Given the description of an element on the screen output the (x, y) to click on. 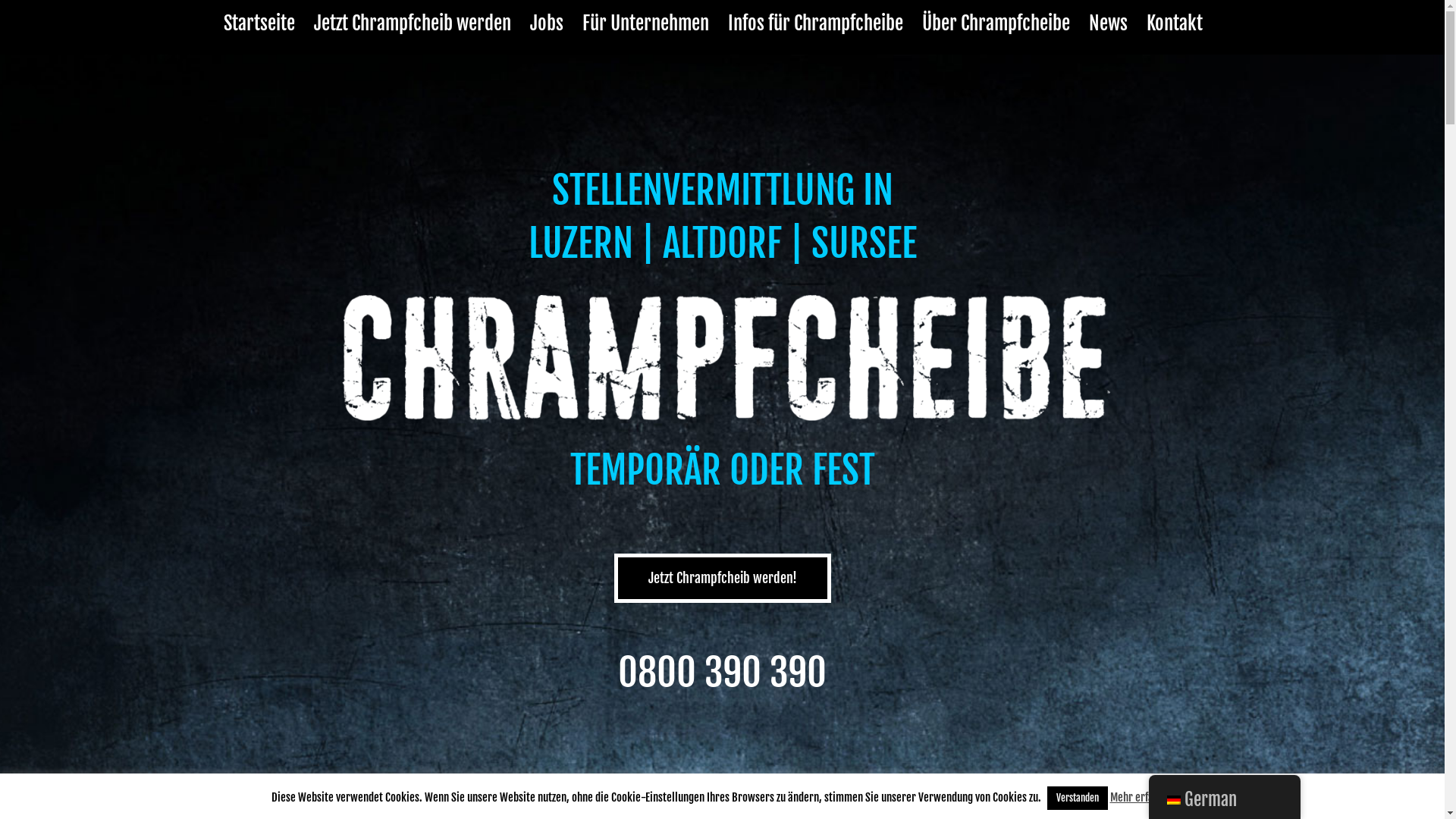
Verstanden Element type: text (1076, 797)
Jetzt Chrampfcheib werden! Element type: text (722, 577)
Jobs Element type: text (545, 22)
German Element type: hover (1172, 799)
Startseite Element type: text (258, 22)
Jetzt Chrampfcheib werden Element type: text (412, 22)
Logo_Chrampfcheibe-CH_white Element type: hover (721, 359)
News Element type: text (1107, 22)
Mehr erfahren Element type: text (1141, 797)
Kontakt Element type: text (1174, 22)
